Given the description of an element on the screen output the (x, y) to click on. 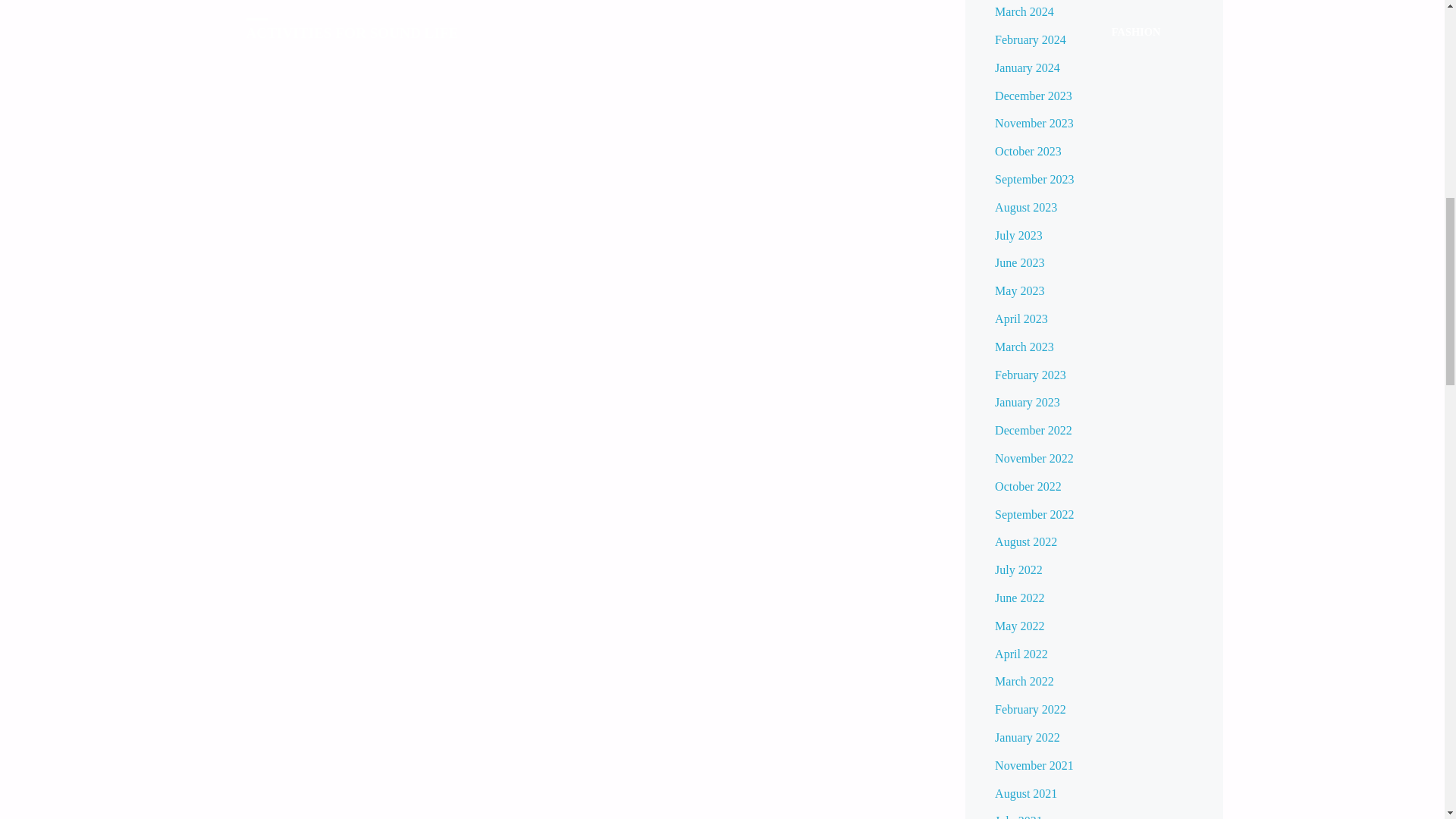
February 2023 (1029, 374)
February 2024 (1029, 39)
July 2023 (1018, 235)
September 2023 (1034, 178)
March 2024 (1024, 11)
August 2023 (1025, 206)
March 2023 (1024, 346)
May 2023 (1018, 290)
January 2024 (1026, 67)
November 2023 (1034, 123)
April 2023 (1021, 318)
December 2023 (1032, 95)
October 2023 (1027, 151)
June 2023 (1018, 262)
